Given the description of an element on the screen output the (x, y) to click on. 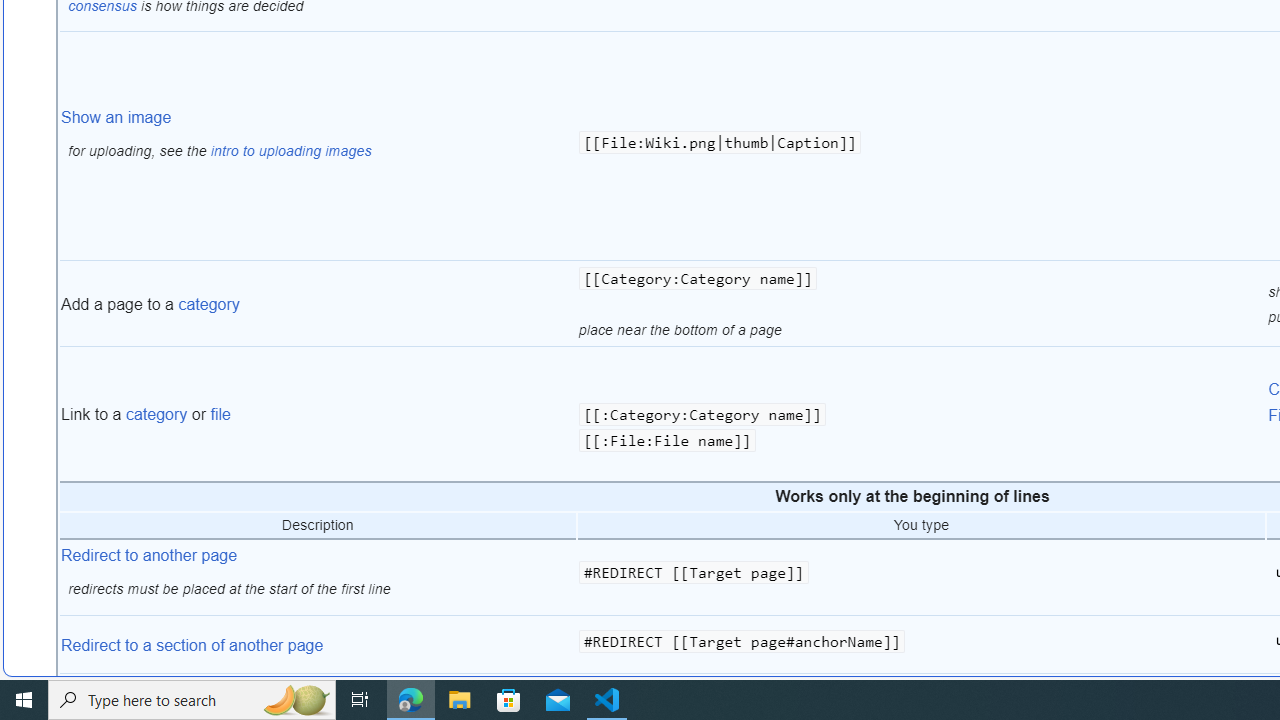
intro to uploading images (290, 151)
[[File:Wiki.png|thumb|Caption]] (921, 146)
You type (921, 525)
Show an image (116, 116)
[[Category:Category name]] place near the bottom of a page (921, 304)
Add a page to a category (318, 304)
Redirect to a section of another page (318, 645)
Redirect to a section of another page (192, 644)
category (156, 415)
#REDIRECT [[Target page#anchorName]] (921, 645)
#REDIRECT [[Target page]] (921, 576)
 [[:Category:Category name]] [[:File:File name]] (921, 414)
